Given the description of an element on the screen output the (x, y) to click on. 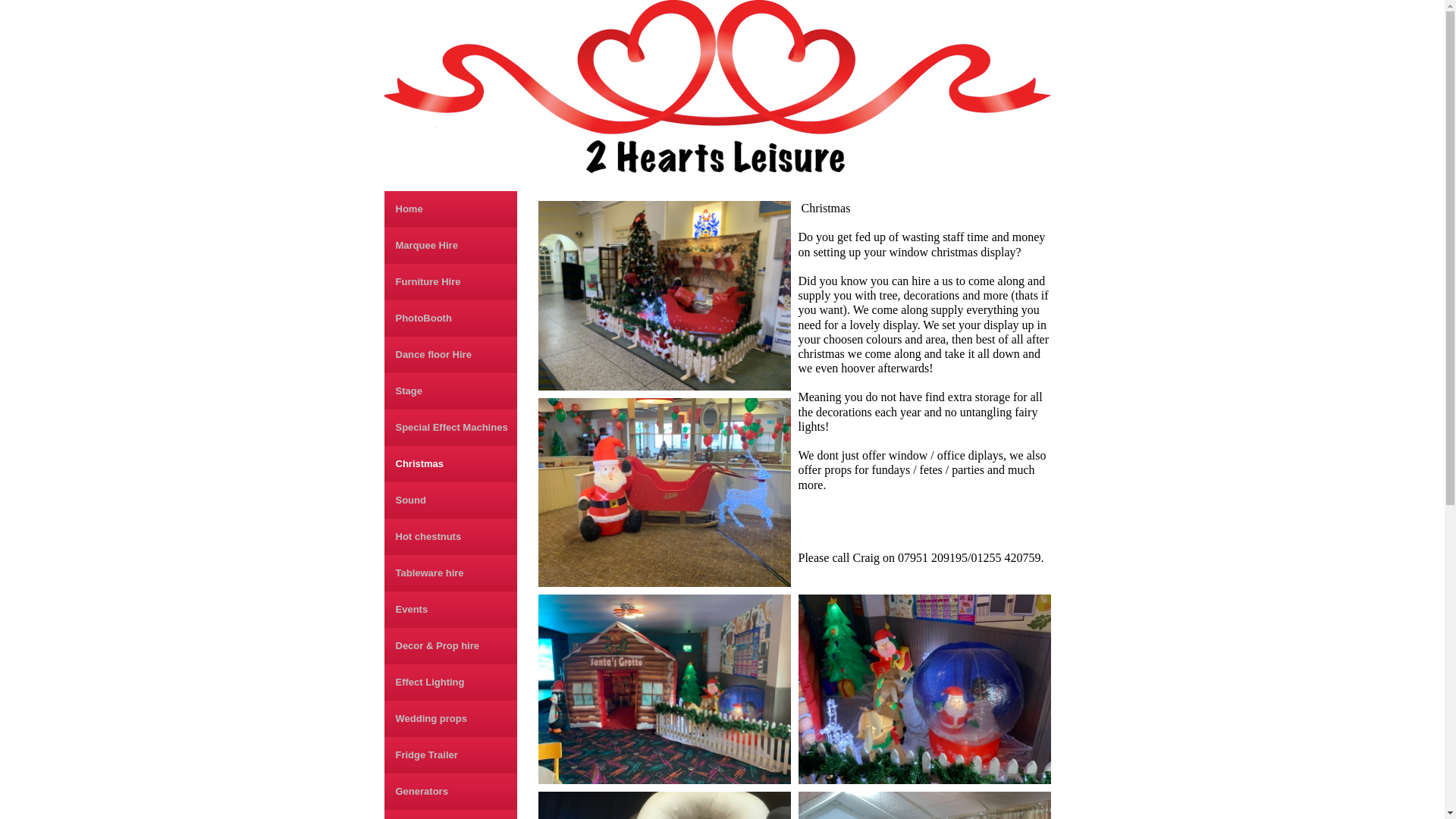
Home Element type: text (449, 209)
Marquee Hire Element type: text (449, 245)
PhotoBooth Element type: text (449, 318)
Stage Element type: text (449, 391)
Special Effect Machines Element type: text (449, 427)
Effect Lighting Element type: text (449, 682)
Furniture Hire Element type: text (449, 281)
Christmas Element type: text (449, 463)
Hot chestnuts Element type: text (449, 536)
Generators Element type: text (449, 791)
Fridge Trailer Element type: text (449, 755)
Dance floor Hire Element type: text (449, 354)
Sound Element type: text (449, 500)
Wedding props Element type: text (449, 718)
Decor & Prop hire Element type: text (449, 645)
Tableware hire Element type: text (449, 573)
Events Element type: text (449, 609)
